Given the description of an element on the screen output the (x, y) to click on. 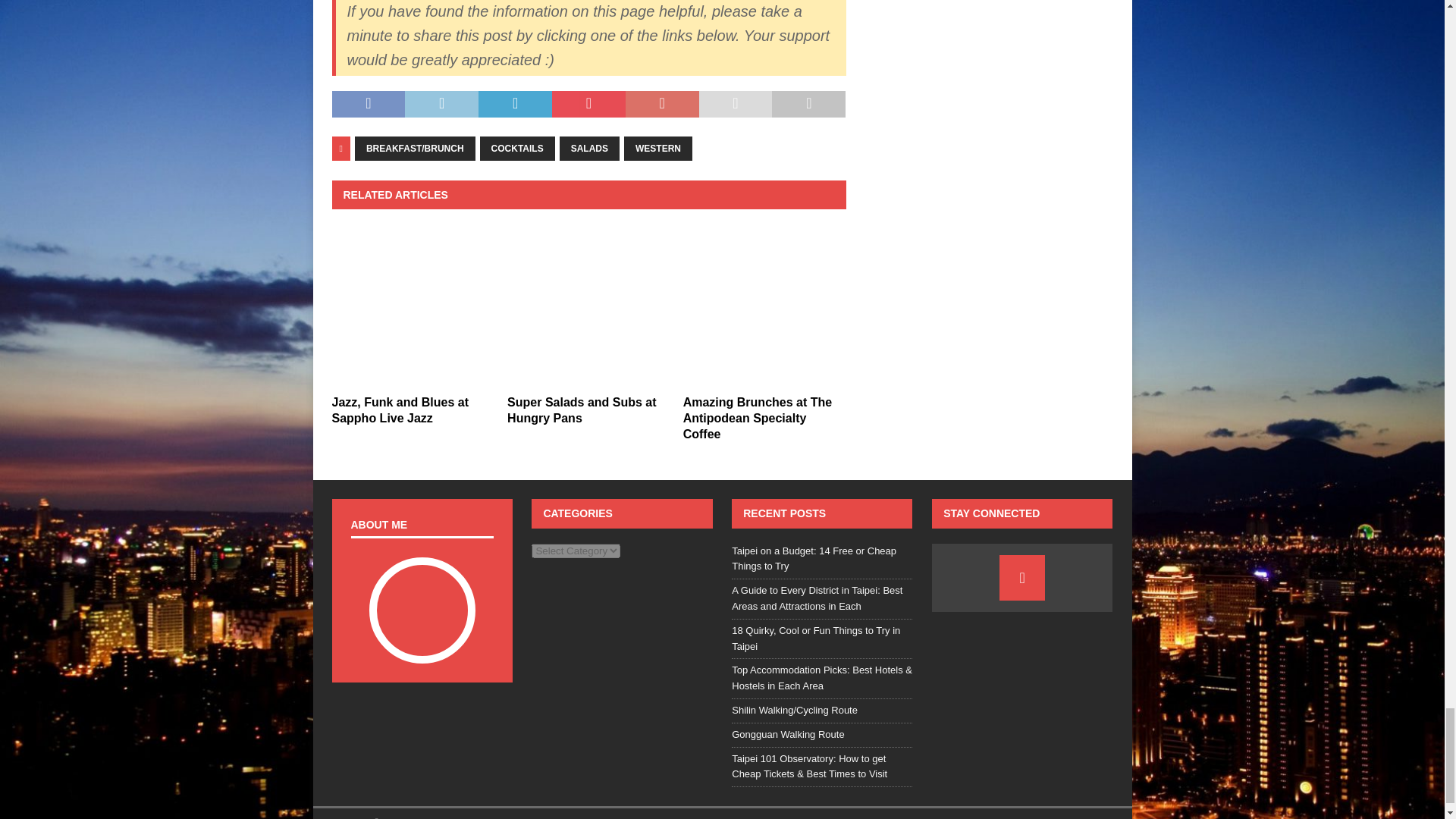
Jazz, Funk and Blues at Sappho Live Jazz (413, 305)
Jazz, Funk and Blues at Sappho Live Jazz (399, 410)
